Given the description of an element on the screen output the (x, y) to click on. 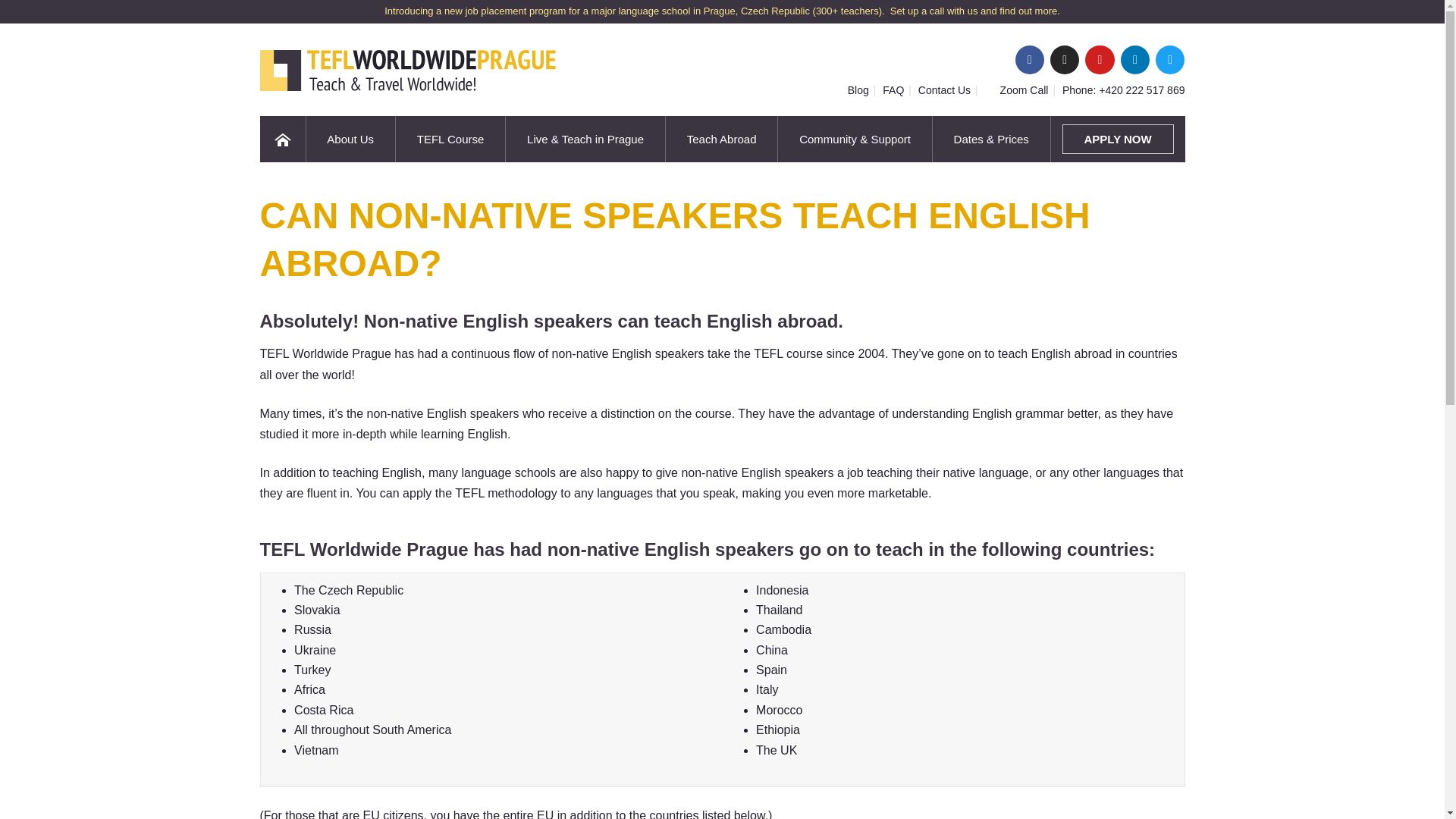
FAQ (893, 90)
TEFL Course (450, 139)
APPLY NOW (1117, 139)
Home (281, 139)
About Us (349, 139)
Teach Abroad (721, 139)
Zoom Call (1024, 90)
Contact Us (944, 90)
TEFL Worldwide Prague (406, 69)
Blog (858, 90)
